Given the description of an element on the screen output the (x, y) to click on. 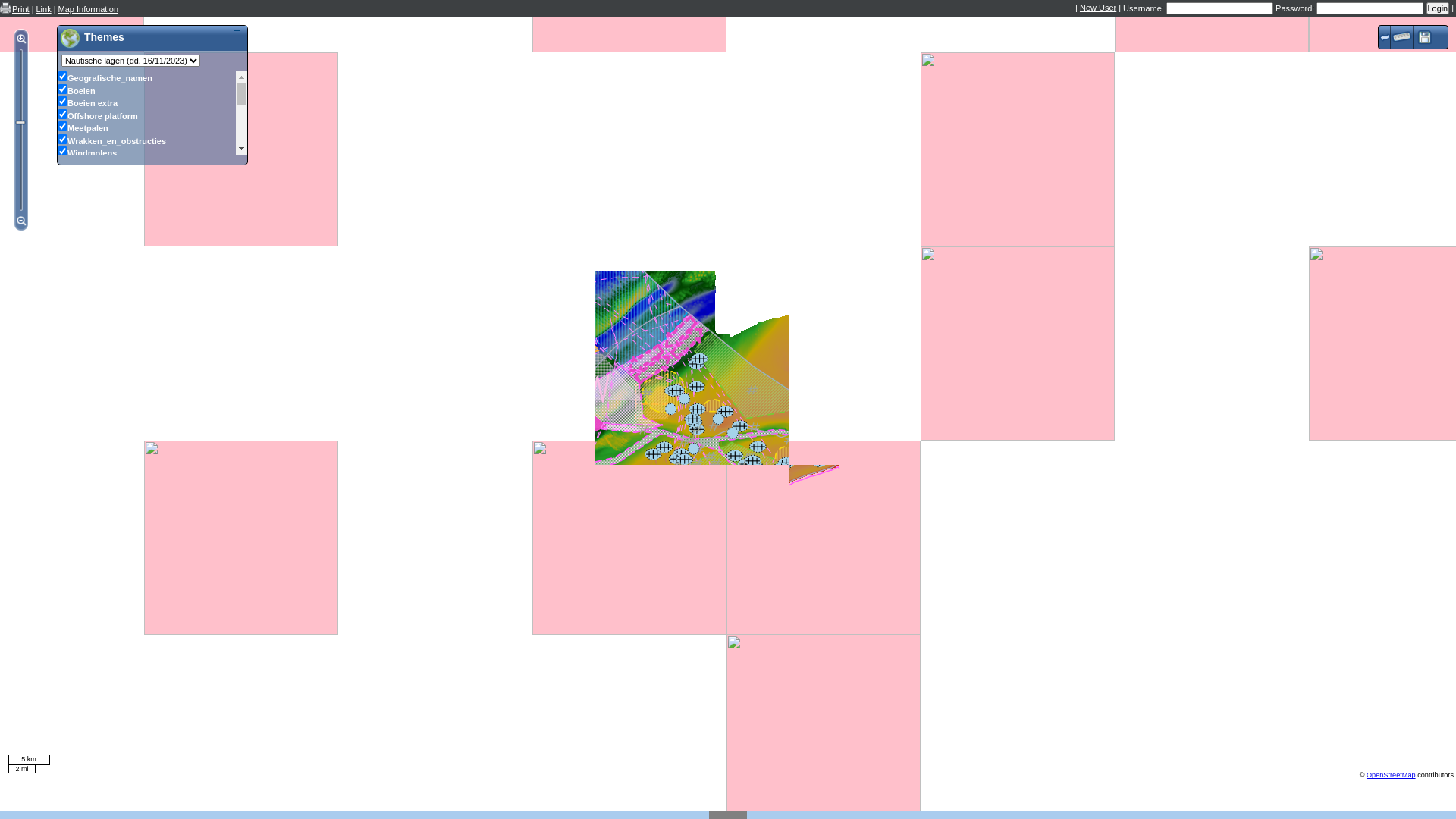
Login Element type: text (1437, 8)
Print Element type: text (20, 9)
Windmolens Element type: hover (62, 151)
Basislijn Element type: hover (62, 201)
3M-grens Element type: hover (62, 214)
24M-grens Element type: hover (62, 239)
Maritieme_grenzen Element type: hover (62, 251)
Wrakken_en_obstructies Element type: hover (62, 139)
Herkenningspunten Element type: hover (62, 164)
Kustlijn Element type: hover (62, 264)
Offshore platform Element type: hover (62, 114)
OpenStreetMap Element type: text (1390, 774)
Natuurbeschermingsgebieden Element type: hover (62, 402)
Measurement Tools Element type: hover (1401, 37)
Bathymetrisch_grid Element type: hover (62, 414)
12M-grens Element type: hover (62, 226)
Baggerstortvakken Element type: hover (62, 339)
Ankergebieden Element type: hover (62, 289)
New User Element type: text (1097, 7)
Ankerplaatsen Element type: hover (62, 176)
Boeien Element type: hover (62, 89)
Akoestische_referentiezone Element type: hover (62, 377)
Baggergeulen Element type: hover (62, 352)
Map Information Element type: text (88, 9)
Link Element type: text (42, 9)
Previous View Element type: hover (1383, 37)
Geografische_namen Element type: hover (62, 76)
Verkeersroutes Element type: hover (62, 314)
Obstructiezone Element type: hover (62, 276)
Boeien extra Element type: hover (62, 101)
Meetpalen Element type: hover (62, 126)
Verkeersscheidingsstelsel Element type: hover (62, 302)
Militaire_zones Element type: hover (62, 389)
Data Download Tool Element type: hover (1424, 37)
Zand-_en_grindontginningsgebieden Element type: hover (62, 364)
Kabels_en_pijpleidingen Element type: hover (62, 189)
Windmolenparken Element type: hover (62, 327)
